Given the description of an element on the screen output the (x, y) to click on. 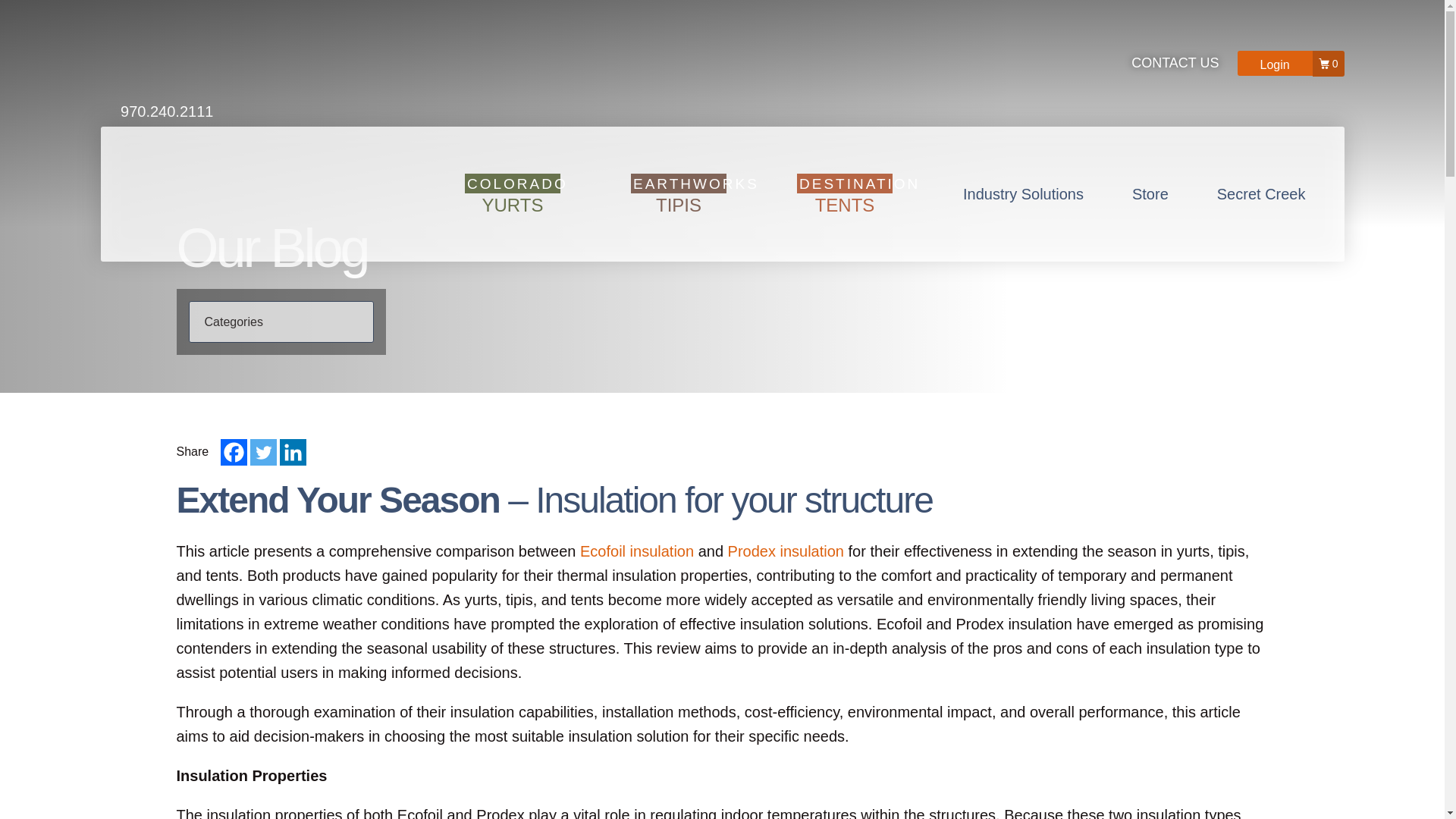
Store (1150, 193)
CONTACT US (1174, 63)
970.240.2111 (156, 63)
Linkedin (292, 452)
Facebook (234, 452)
Secret Creek (512, 193)
Industry Solutions (1261, 193)
Login (678, 193)
0 (1022, 193)
Twitter (1275, 63)
